Given the description of an element on the screen output the (x, y) to click on. 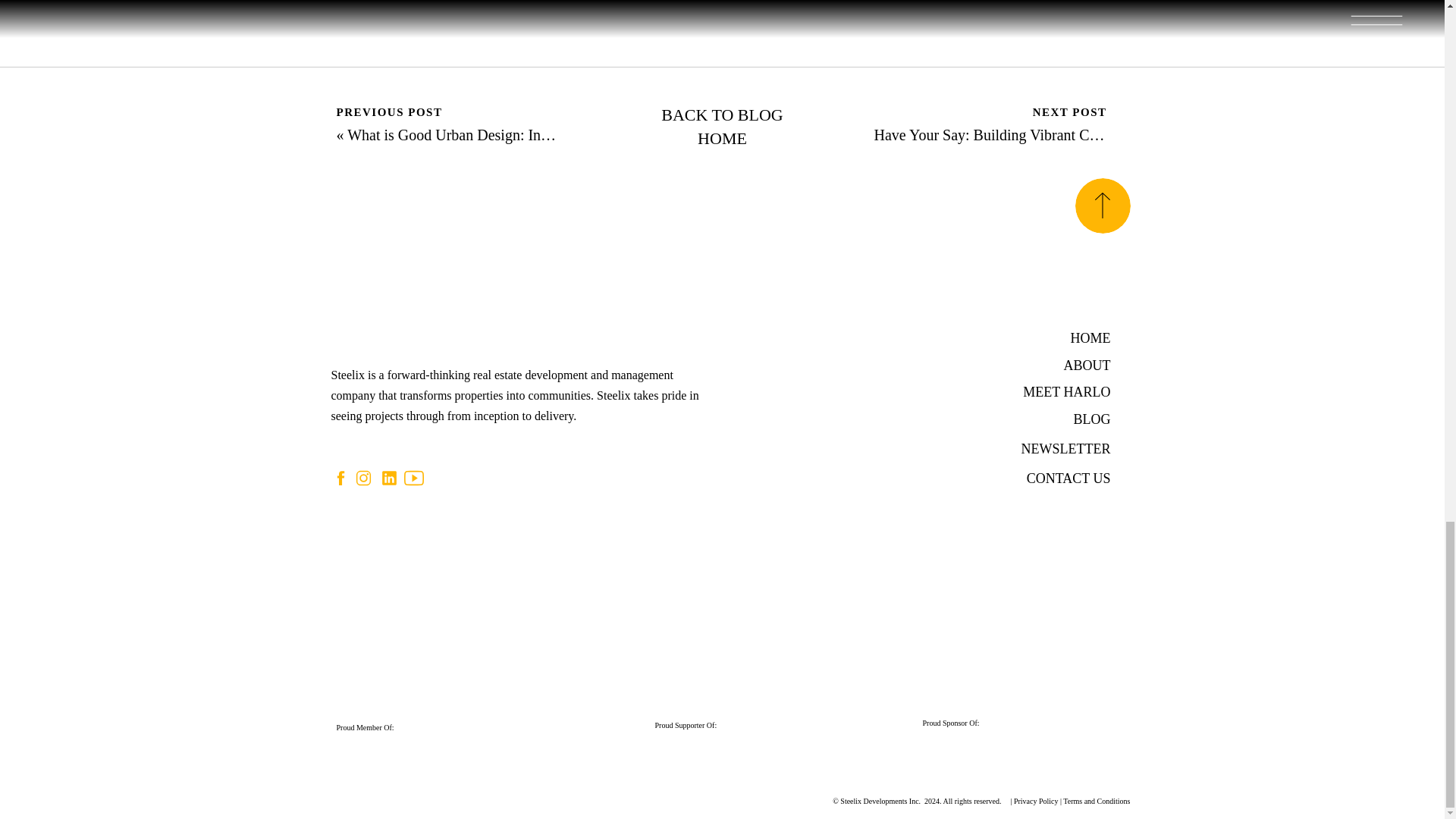
HOME (1078, 337)
Have Your Say: Building Vibrant Communities with Steelix Dev (1069, 134)
ABOUT (1063, 364)
BLOG (1059, 418)
CONTACT US (1051, 477)
BACK TO BLOG HOME (722, 127)
MEET HARLO (1041, 391)
